Given the description of an element on the screen output the (x, y) to click on. 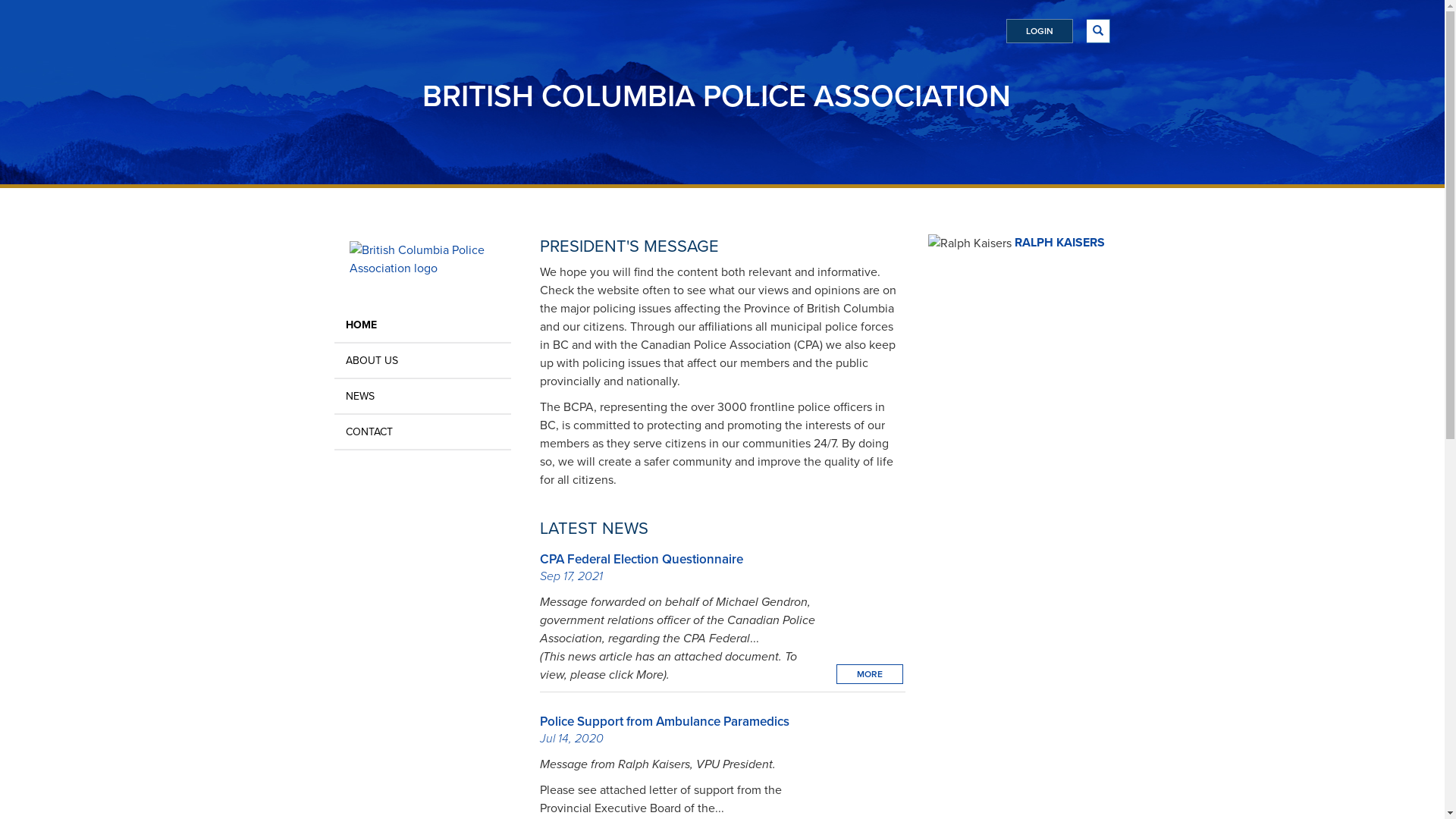
CONTACT Element type: text (422, 431)
LOGIN Element type: text (1038, 30)
BRITISH COLUMBIA POLICE ASSOCIATION Element type: text (716, 94)
HOME Element type: text (422, 324)
Search Element type: text (886, 43)
Skip to main content Element type: text (0, 0)
ABOUT US Element type: text (422, 360)
Police Support from Ambulance Paramedics Element type: text (664, 721)
MORE Element type: text (868, 674)
NEWS Element type: text (422, 396)
CPA Federal Election Questionnaire Element type: text (641, 558)
